Given the description of an element on the screen output the (x, y) to click on. 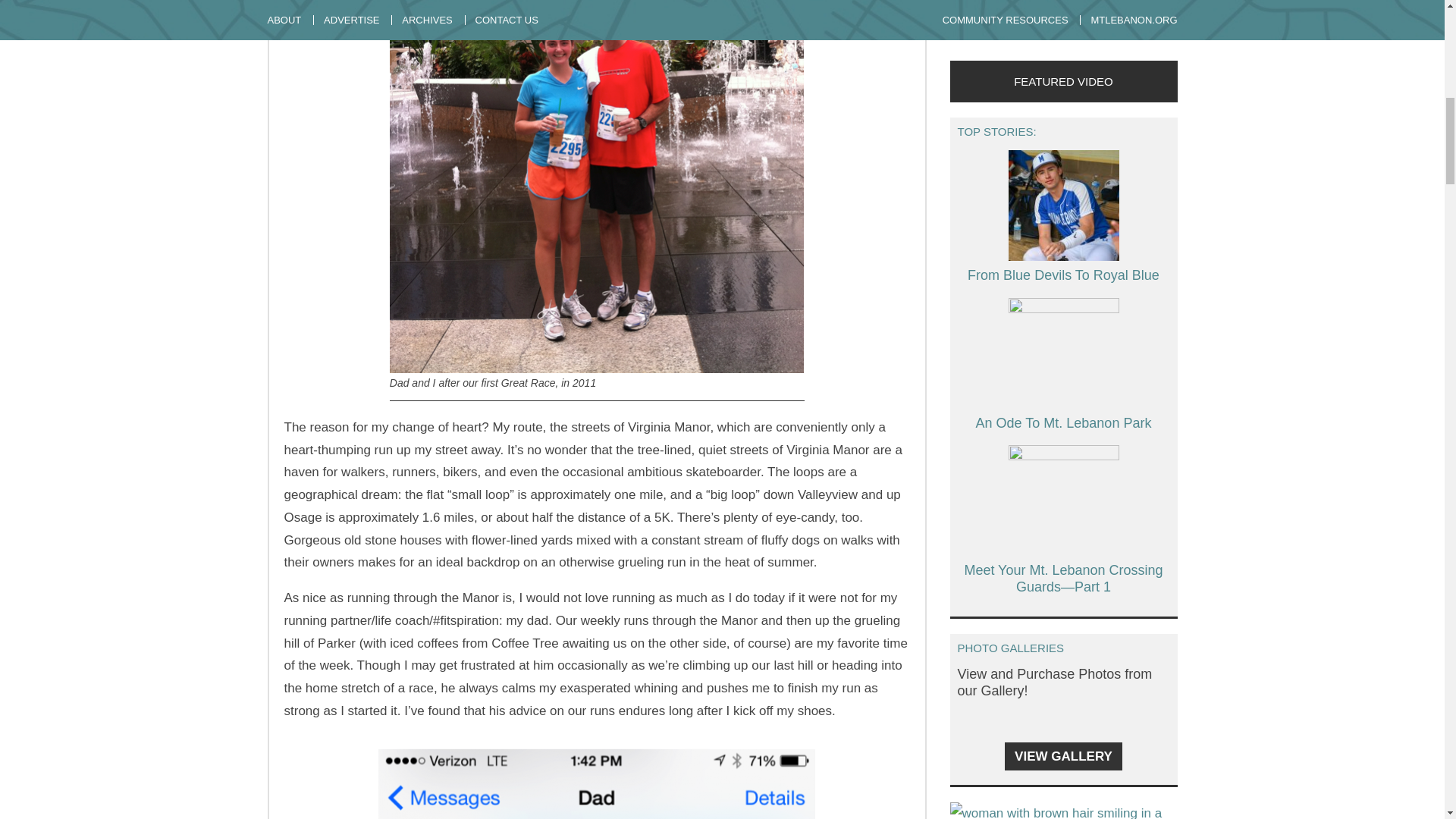
YouTube video player (1161, 29)
